Given the description of an element on the screen output the (x, y) to click on. 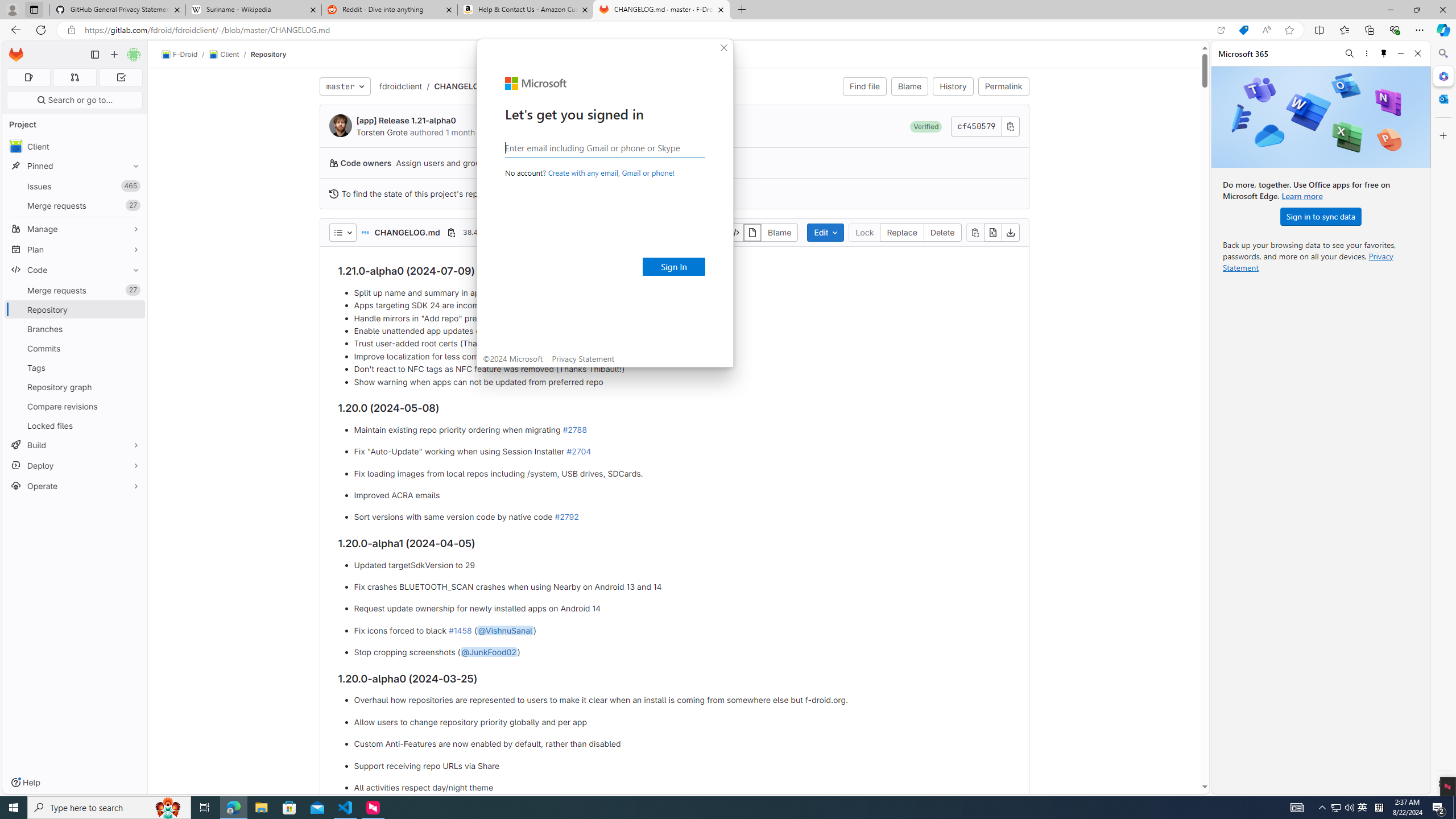
Compare revisions (74, 406)
Sign in to sync data (1320, 216)
Improved ACRA emails (1335, 807)
#2792 (681, 495)
master (566, 516)
Build (344, 85)
Merge requests 0 (74, 444)
